Given the description of an element on the screen output the (x, y) to click on. 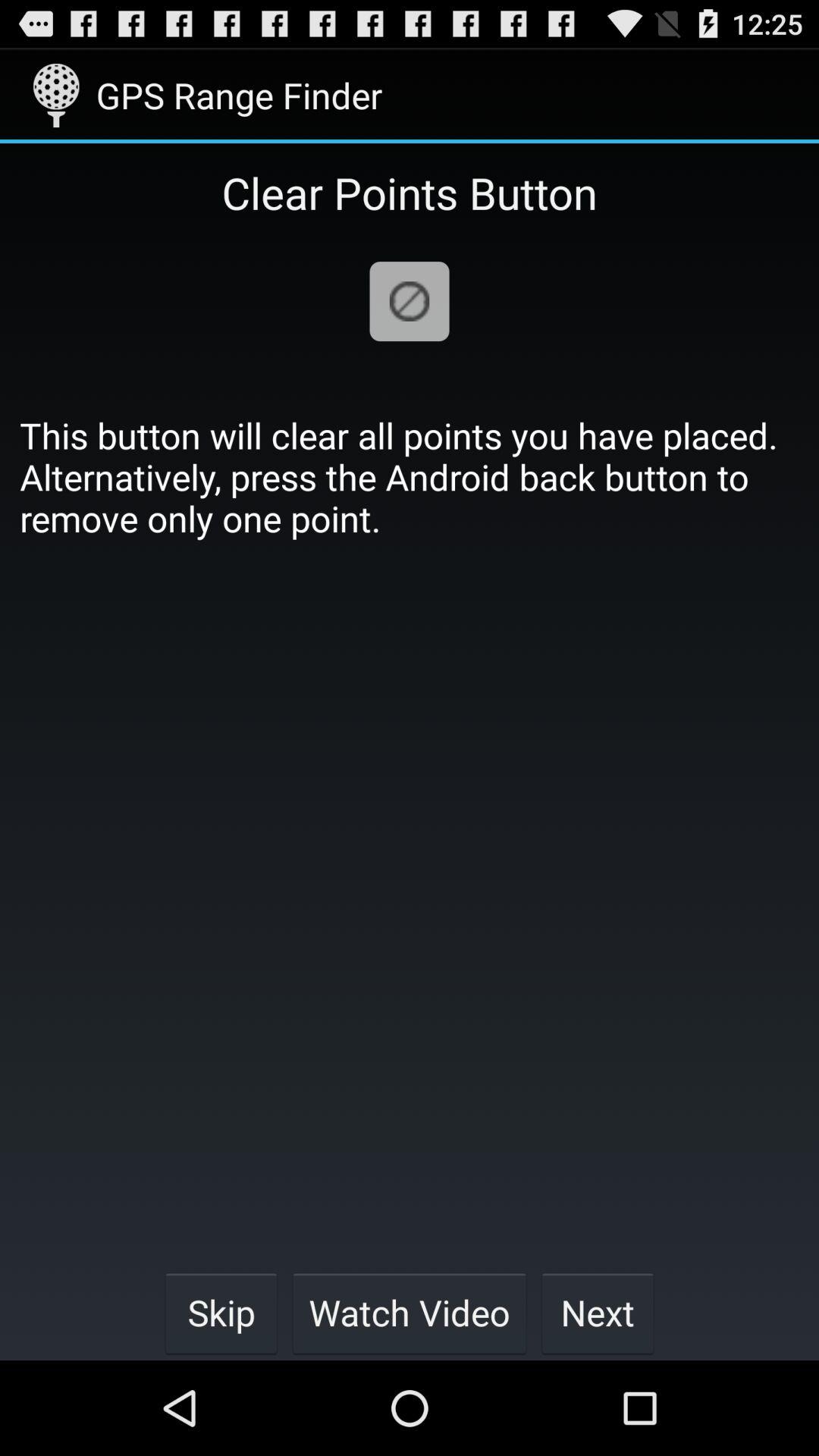
press the icon next to watch video button (597, 1312)
